Given the description of an element on the screen output the (x, y) to click on. 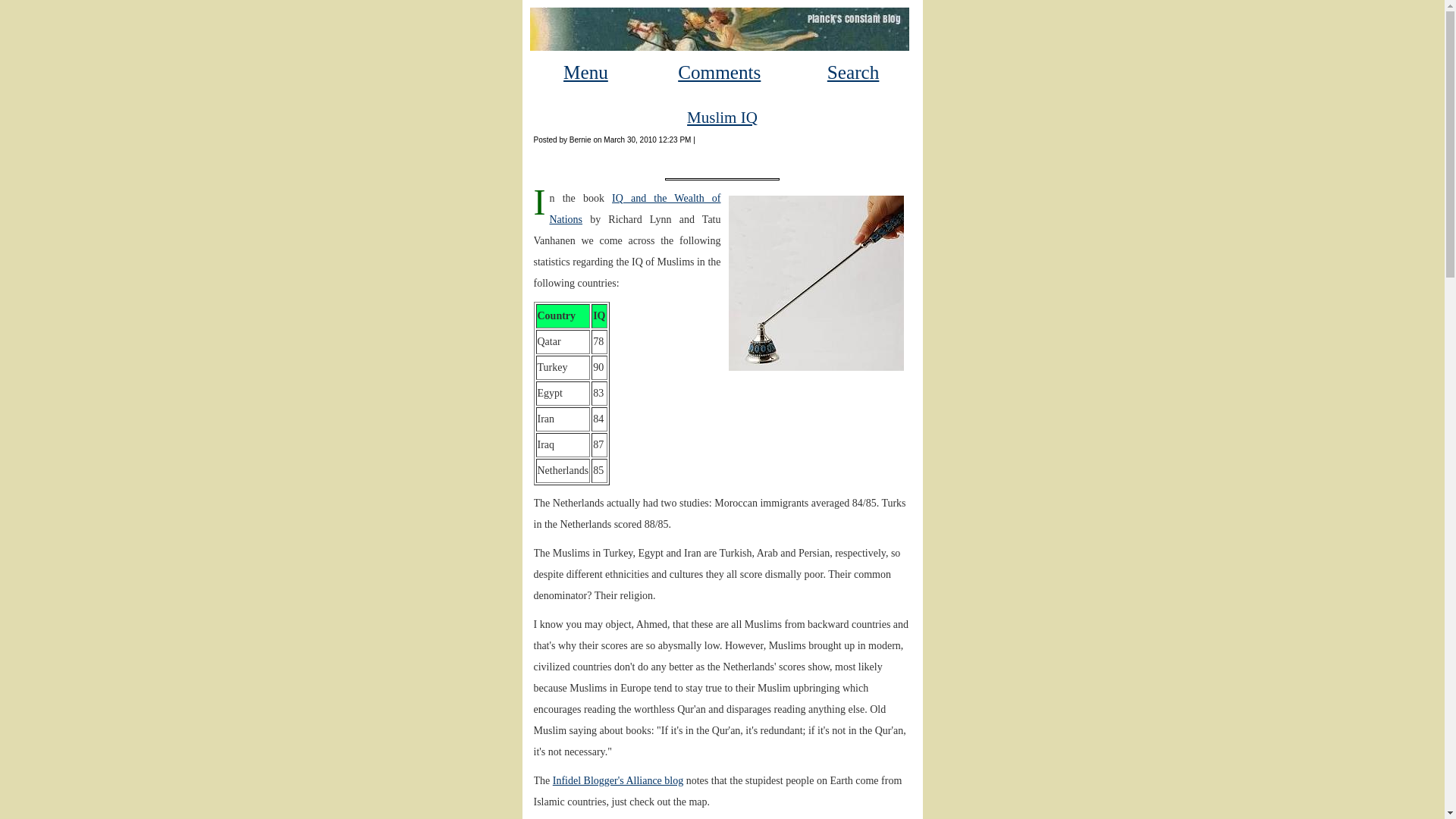
Infidel Blogger's Alliance blog (617, 780)
IQ and the Wealth of Nations (634, 208)
Menu (585, 72)
Comments (719, 72)
Search (853, 72)
Muslim IQ (722, 117)
